Given the description of an element on the screen output the (x, y) to click on. 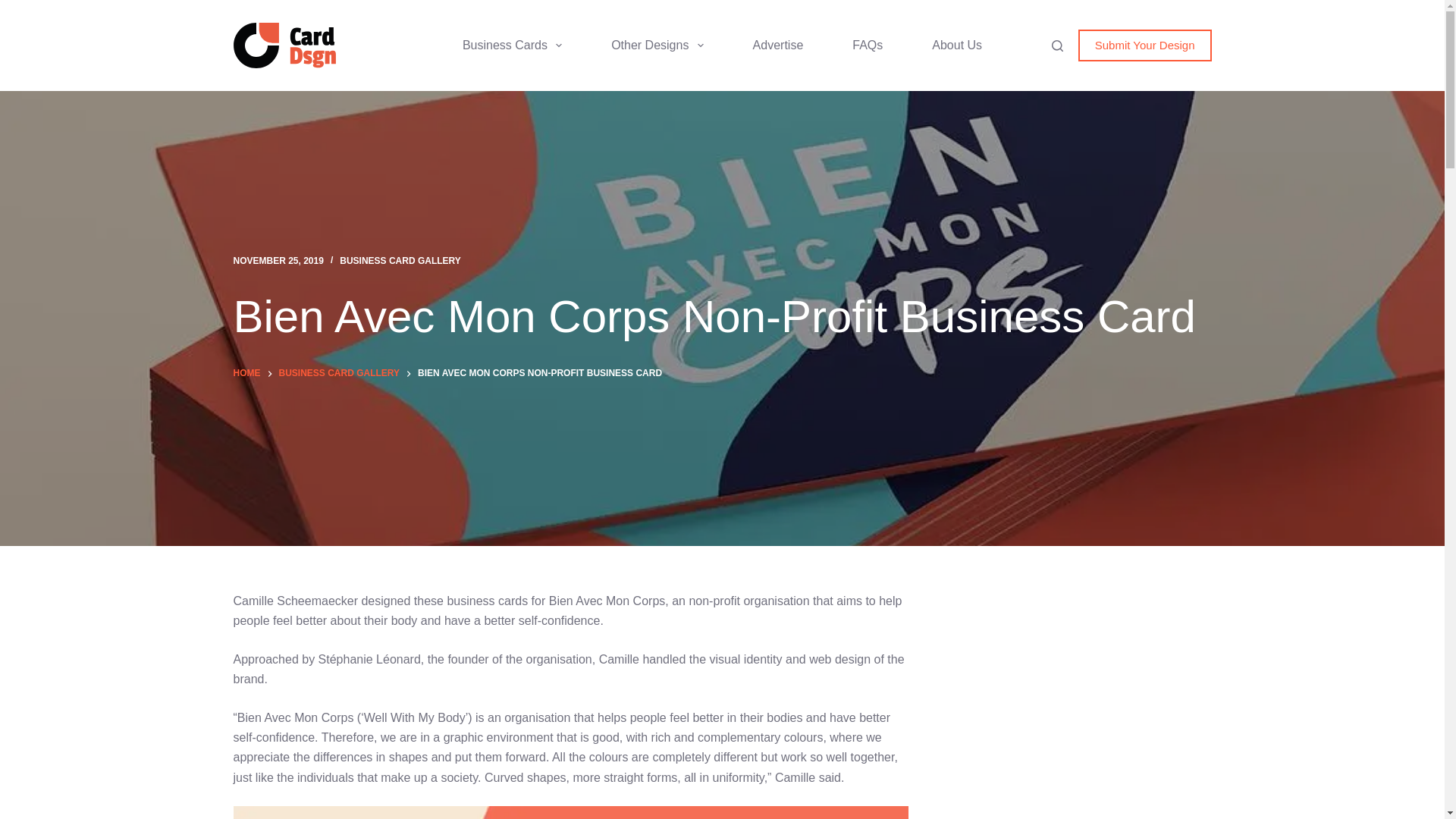
Submit Your Design (1144, 45)
About Us (957, 45)
SONNE Foodtography (1079, 741)
Other Designs (657, 45)
Advertise (778, 45)
Bien Avec Mon Corps Non-Profit Business Card (721, 316)
BUSINESS CARD GALLERY (400, 260)
Business Cards (512, 45)
Skip to content (15, 7)
